Given the description of an element on the screen output the (x, y) to click on. 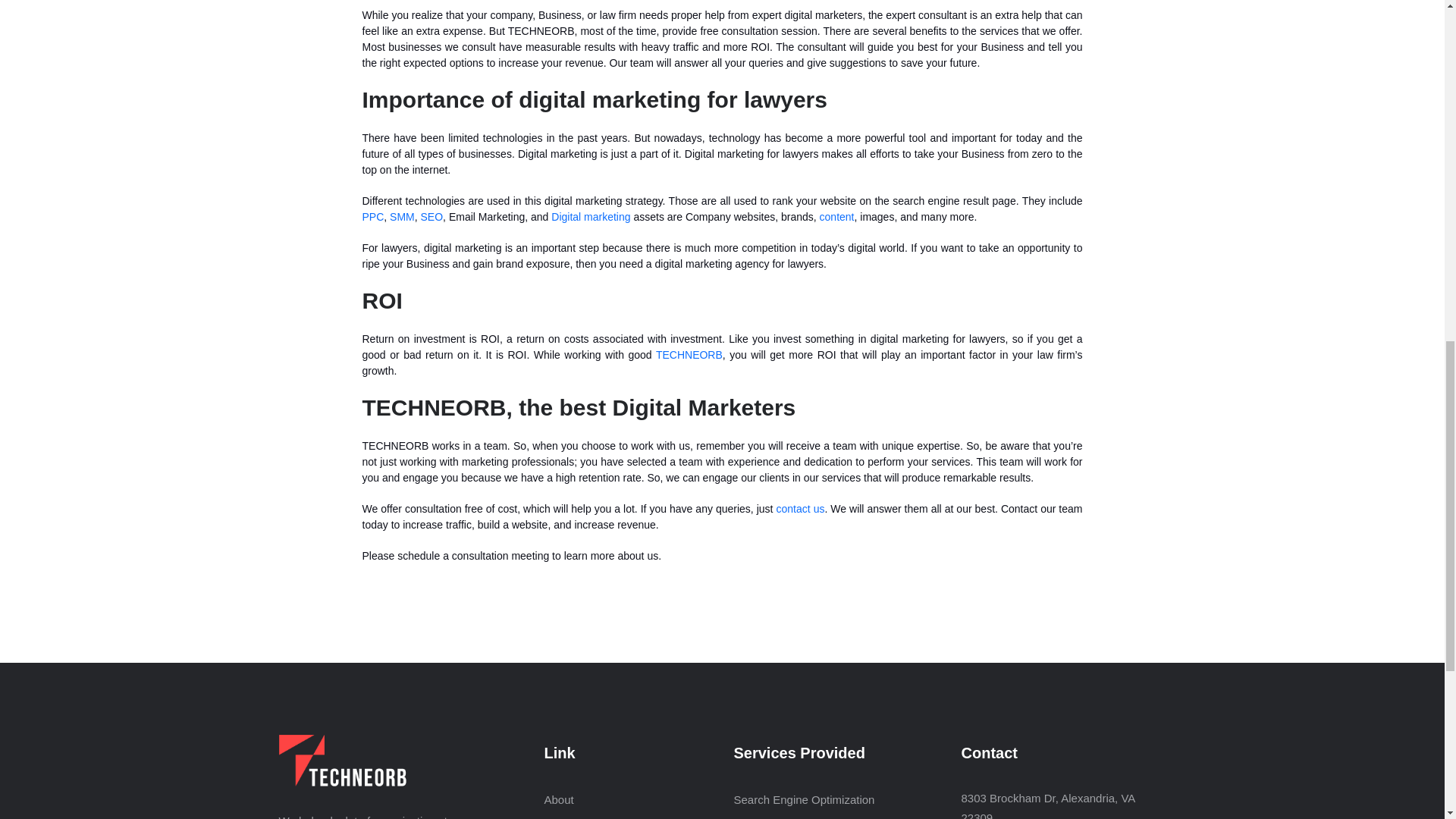
PPC (373, 216)
